Given the description of an element on the screen output the (x, y) to click on. 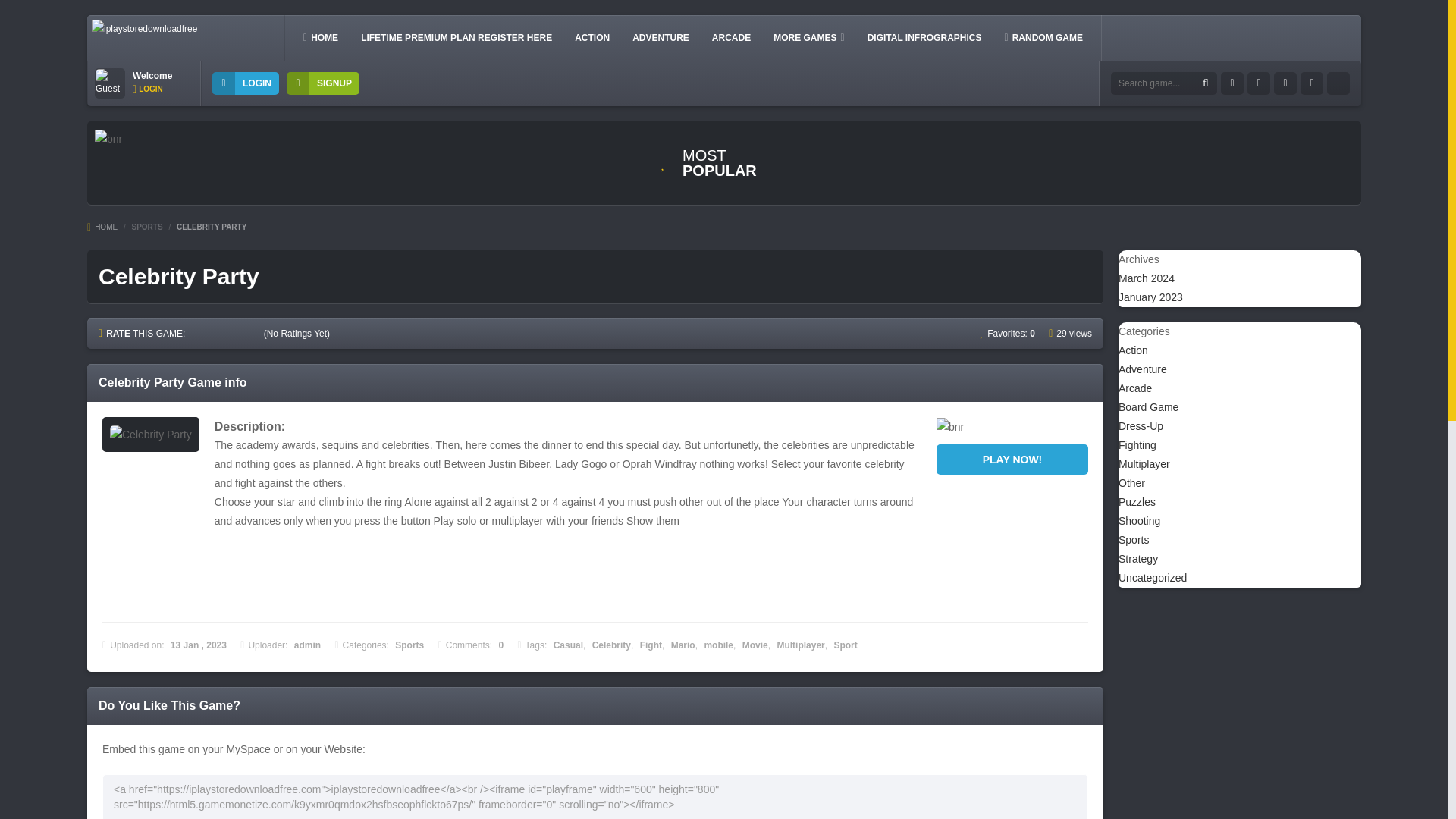
LOGIN (147, 89)
iplaystoredownloadfree (143, 28)
SIGNUP (322, 83)
RANDOM GAME (1043, 37)
ARCADE (731, 37)
Twitter (1258, 83)
ACTION (592, 37)
LOGIN (245, 83)
Search (1205, 83)
LIFETIME PREMIUM PLAN REGISTER HERE (456, 37)
DIGITAL INFROGRAPHICS (925, 37)
Feed (1311, 83)
MORE GAMES (808, 37)
SIGNUP (322, 83)
Instagram (1285, 83)
